Given the description of an element on the screen output the (x, y) to click on. 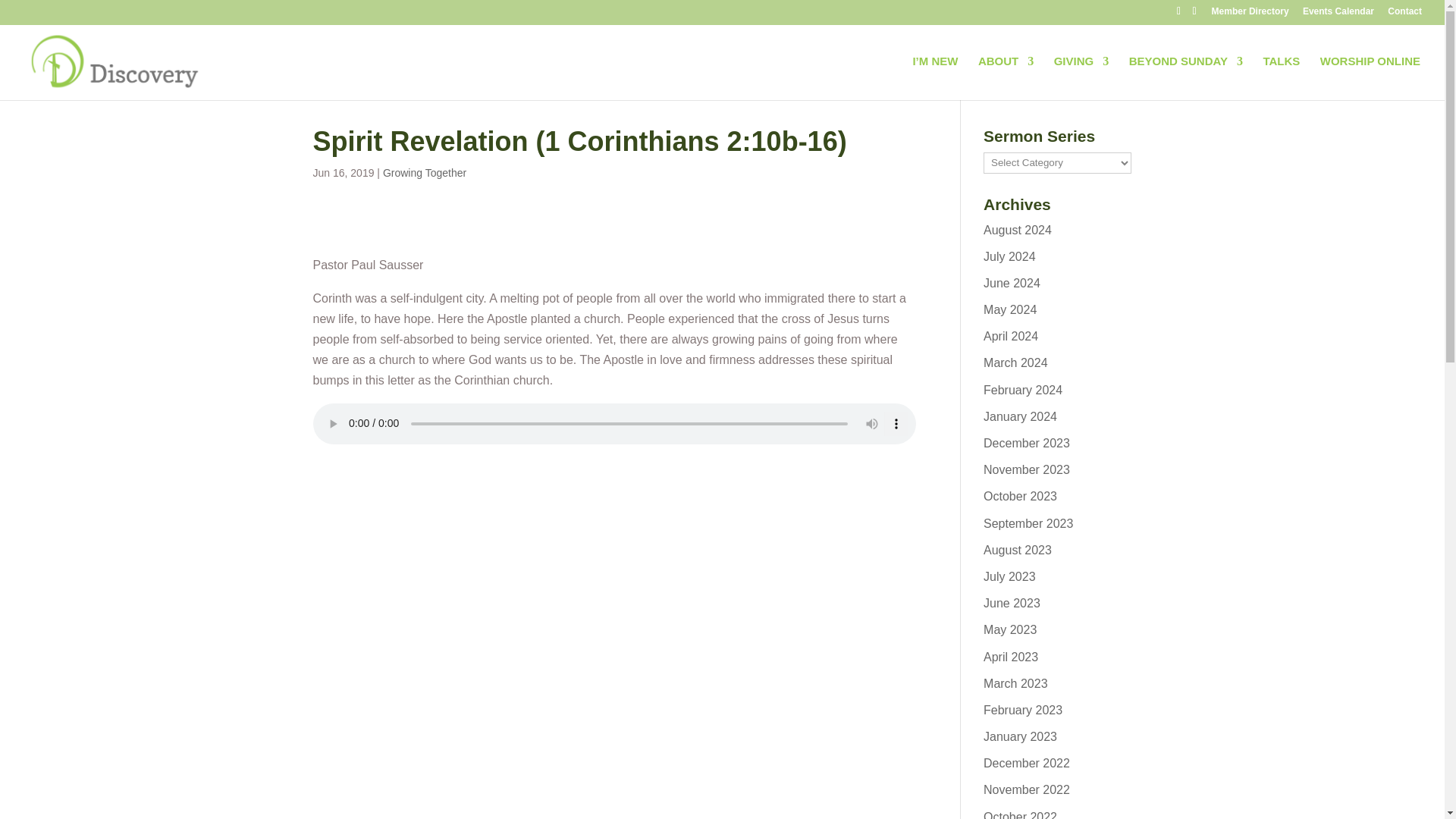
May 2024 (1010, 309)
February 2024 (1023, 390)
ABOUT (1005, 77)
Growing Together (423, 173)
WORSHIP ONLINE (1370, 77)
BEYOND SUNDAY (1186, 77)
March 2024 (1016, 362)
April 2024 (1011, 336)
January 2024 (1020, 416)
July 2024 (1009, 256)
